Given the description of an element on the screen output the (x, y) to click on. 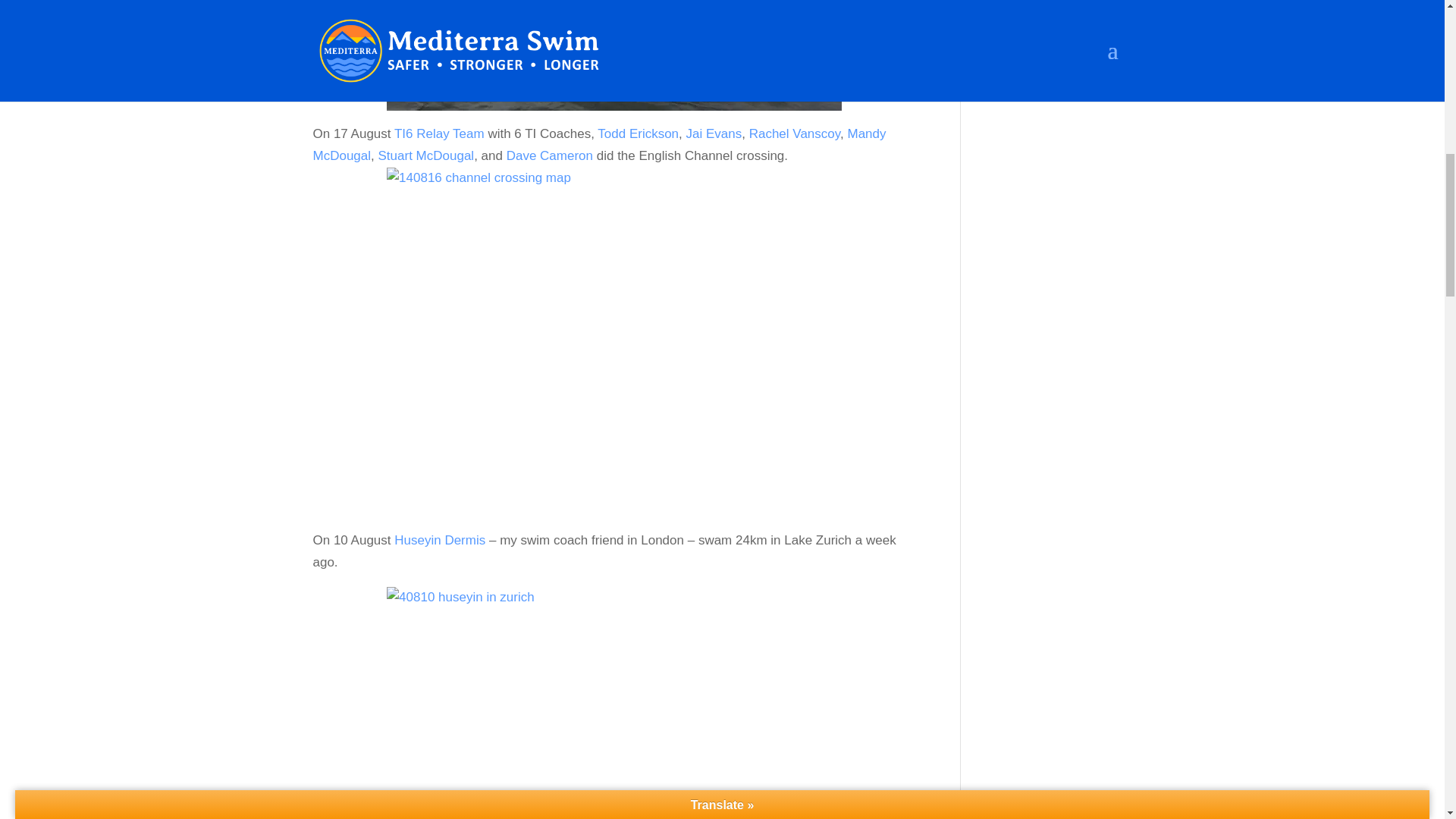
TI6 Relay Team (439, 133)
Todd Erickson on Facebook (637, 133)
Dave Cameron (549, 155)
Jai Evans (713, 133)
Rachel Vanscoy (794, 133)
Jai Evans on Facebook (713, 133)
Todd Erickson (637, 133)
Stuart McDougal on Facebook (425, 155)
Huseyin Dermis (439, 540)
TI6 Relay Team on Facebook (439, 133)
